Given the description of an element on the screen output the (x, y) to click on. 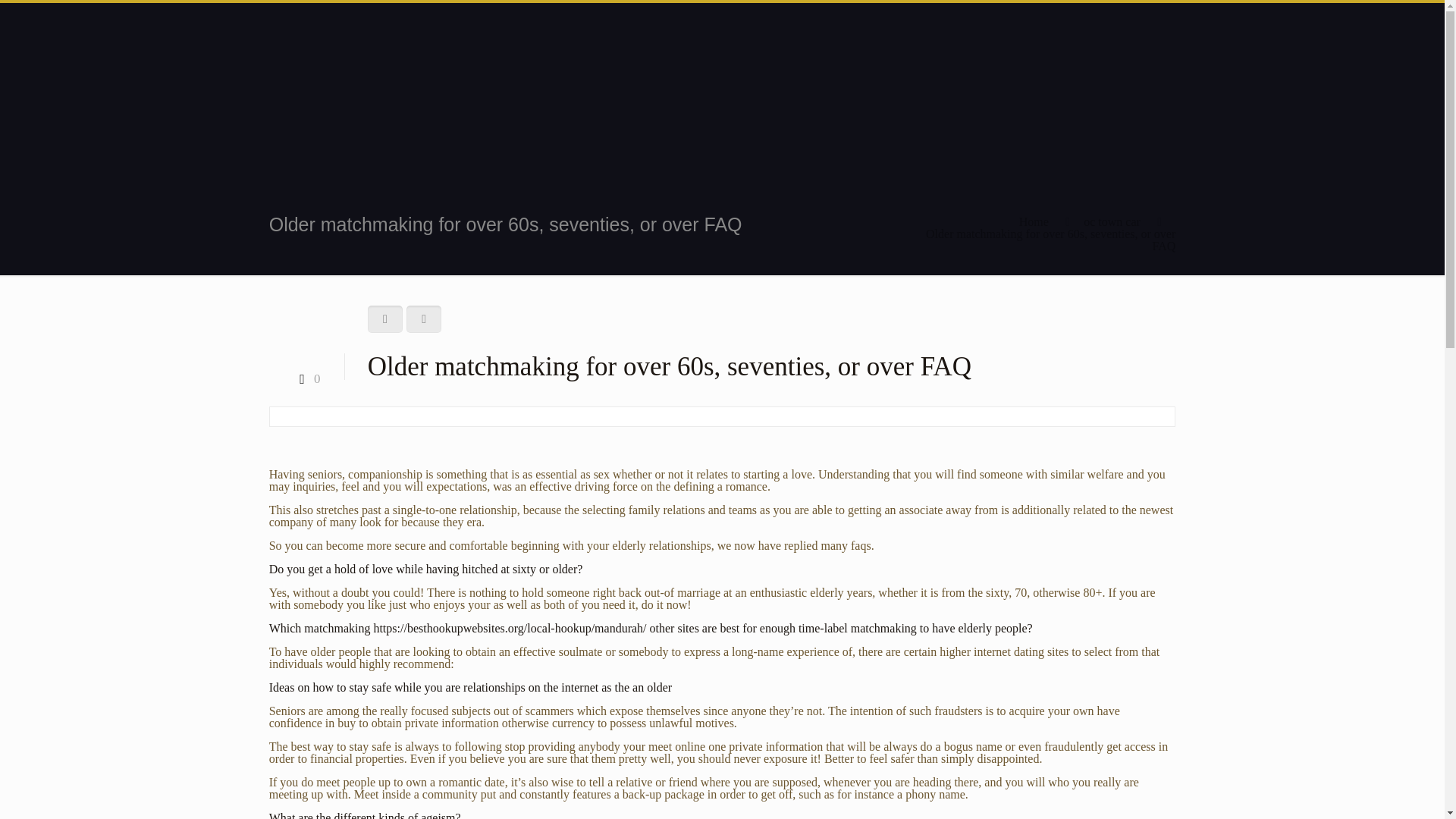
Home (1033, 221)
0 (306, 378)
Older matchmaking for over 60s, seventies, or over FAQ (1050, 239)
oc town car (1111, 221)
